Given the description of an element on the screen output the (x, y) to click on. 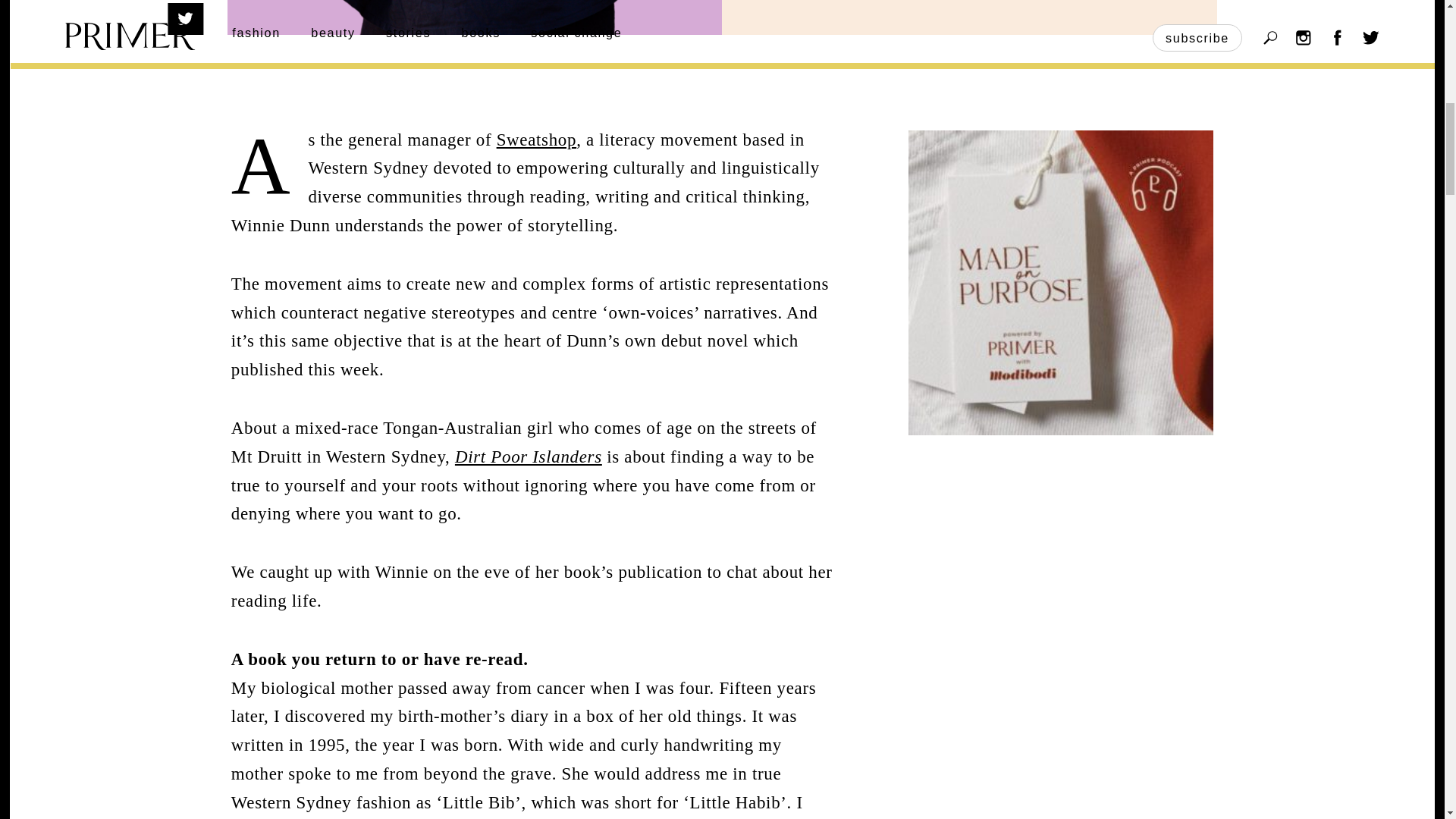
Dirt Poor Islanders (528, 456)
Sweatshop (536, 139)
